Given the description of an element on the screen output the (x, y) to click on. 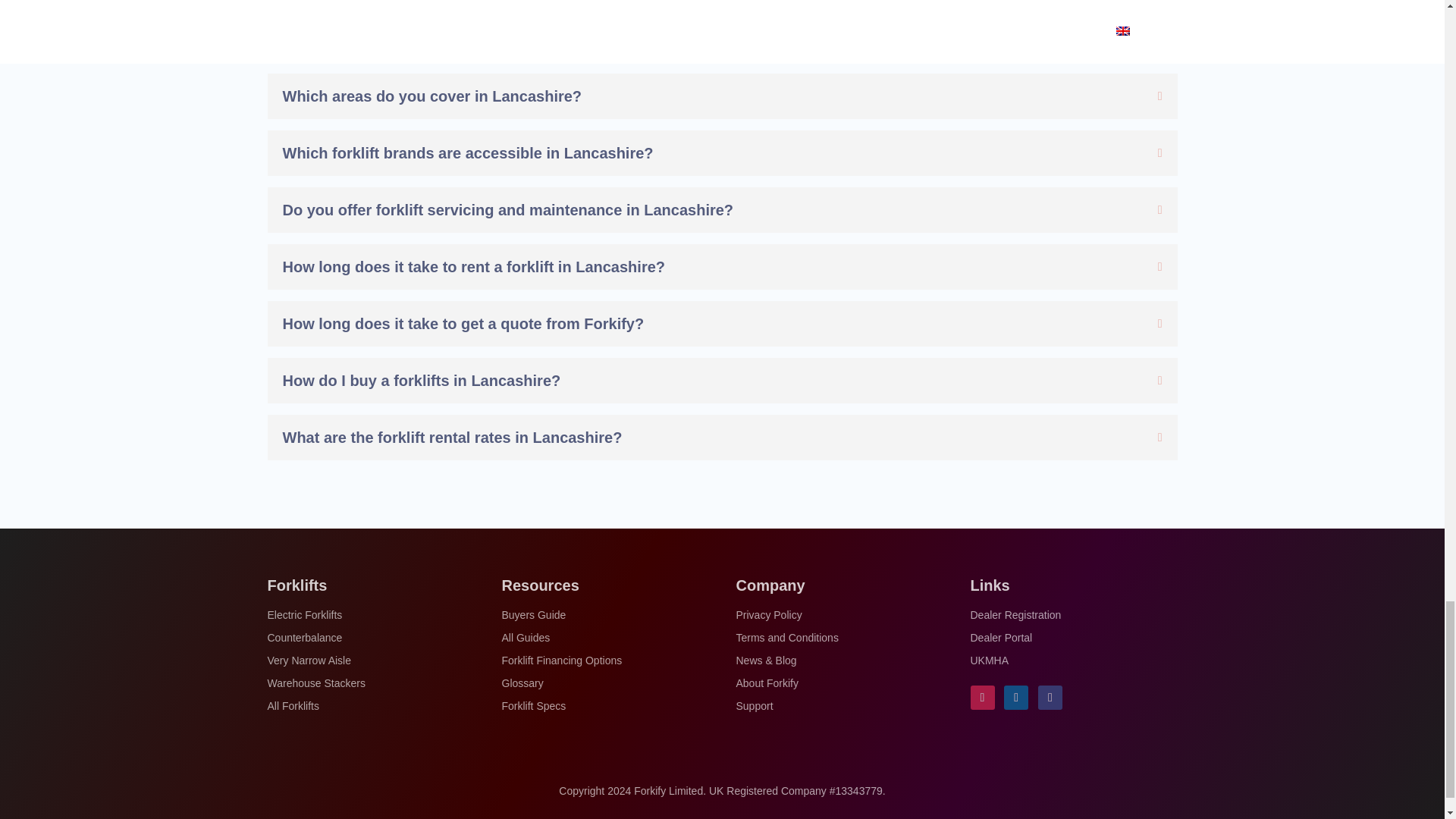
Buyers Guide (534, 617)
Forklift Specs (534, 709)
Counterbalance (304, 640)
Warehouse Stackers (315, 686)
All Forklifts (292, 709)
Follow on LinkedIn (1015, 697)
Electric Forklifts (304, 617)
Glossary (522, 686)
All Guides (526, 640)
Follow on Instagram (982, 697)
